Given the description of an element on the screen output the (x, y) to click on. 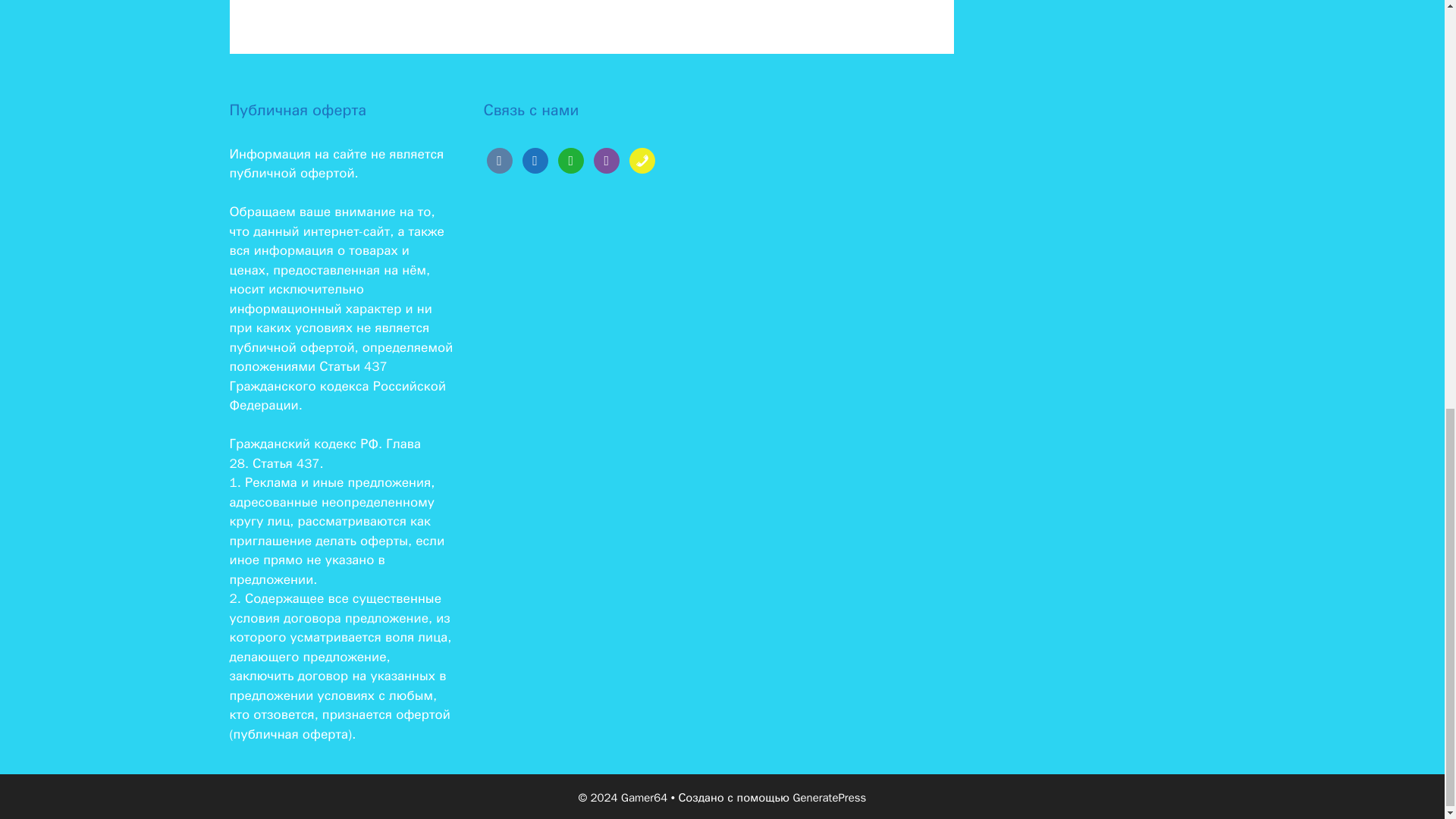
phone (641, 159)
GeneratePress (829, 797)
vkontakte (499, 159)
Default Label (535, 159)
Default Label (641, 159)
viber (607, 159)
Default Label (499, 159)
whatsapp (570, 159)
mail (535, 159)
Default Label (607, 159)
